Given the description of an element on the screen output the (x, y) to click on. 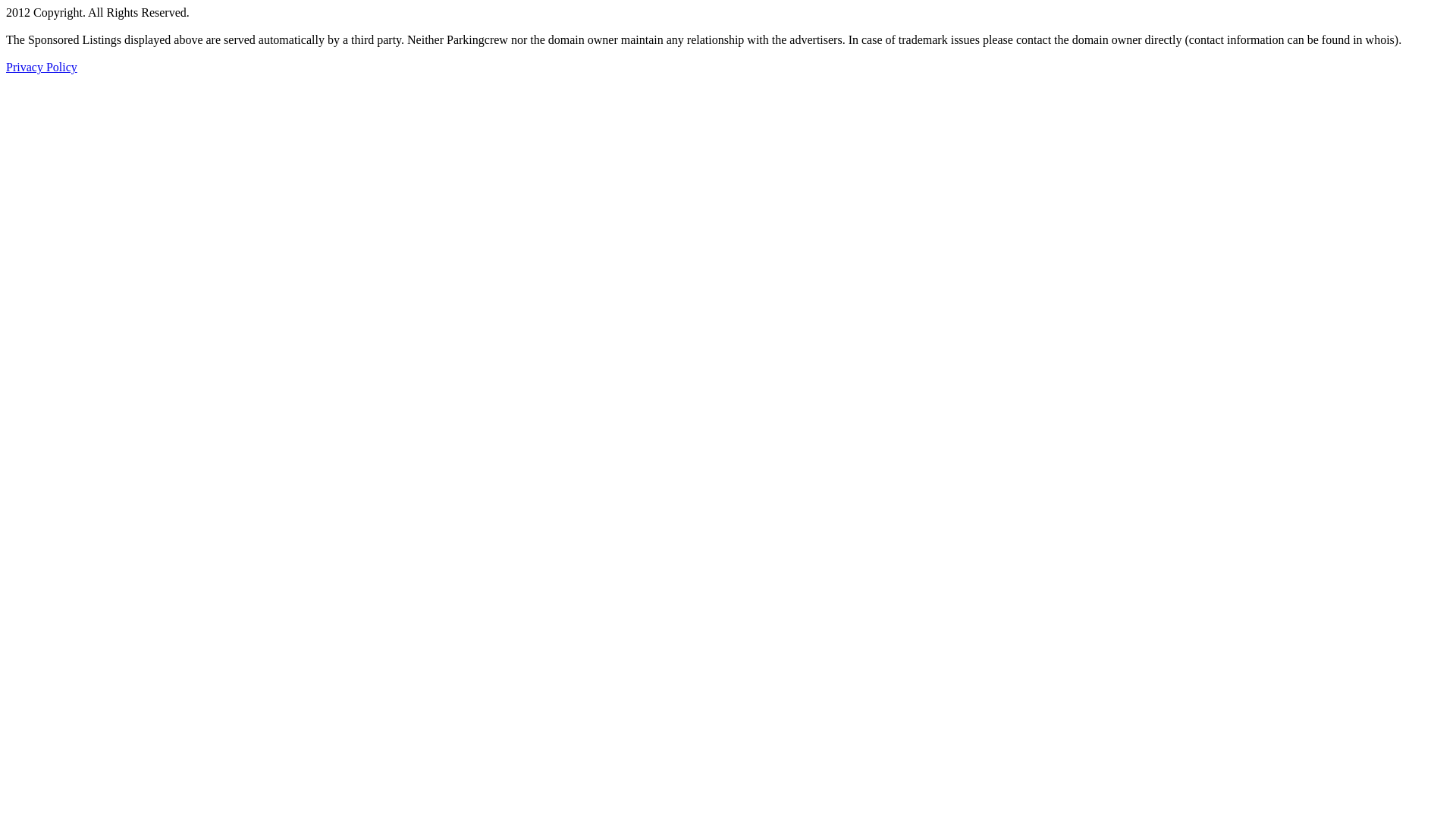
Privacy Policy Element type: text (41, 66)
